Given the description of an element on the screen output the (x, y) to click on. 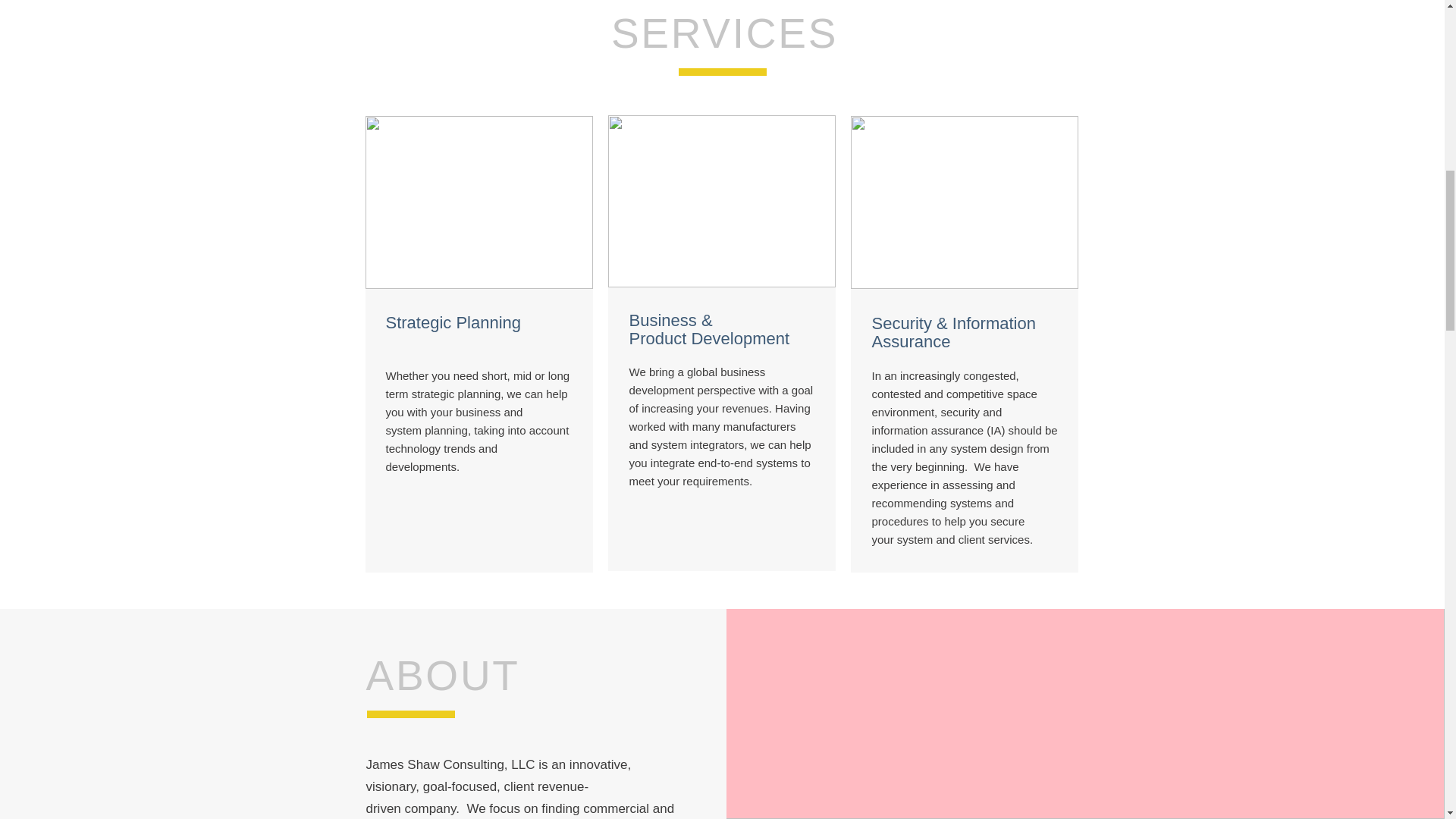
image3.JPG (721, 201)
